Given the description of an element on the screen output the (x, y) to click on. 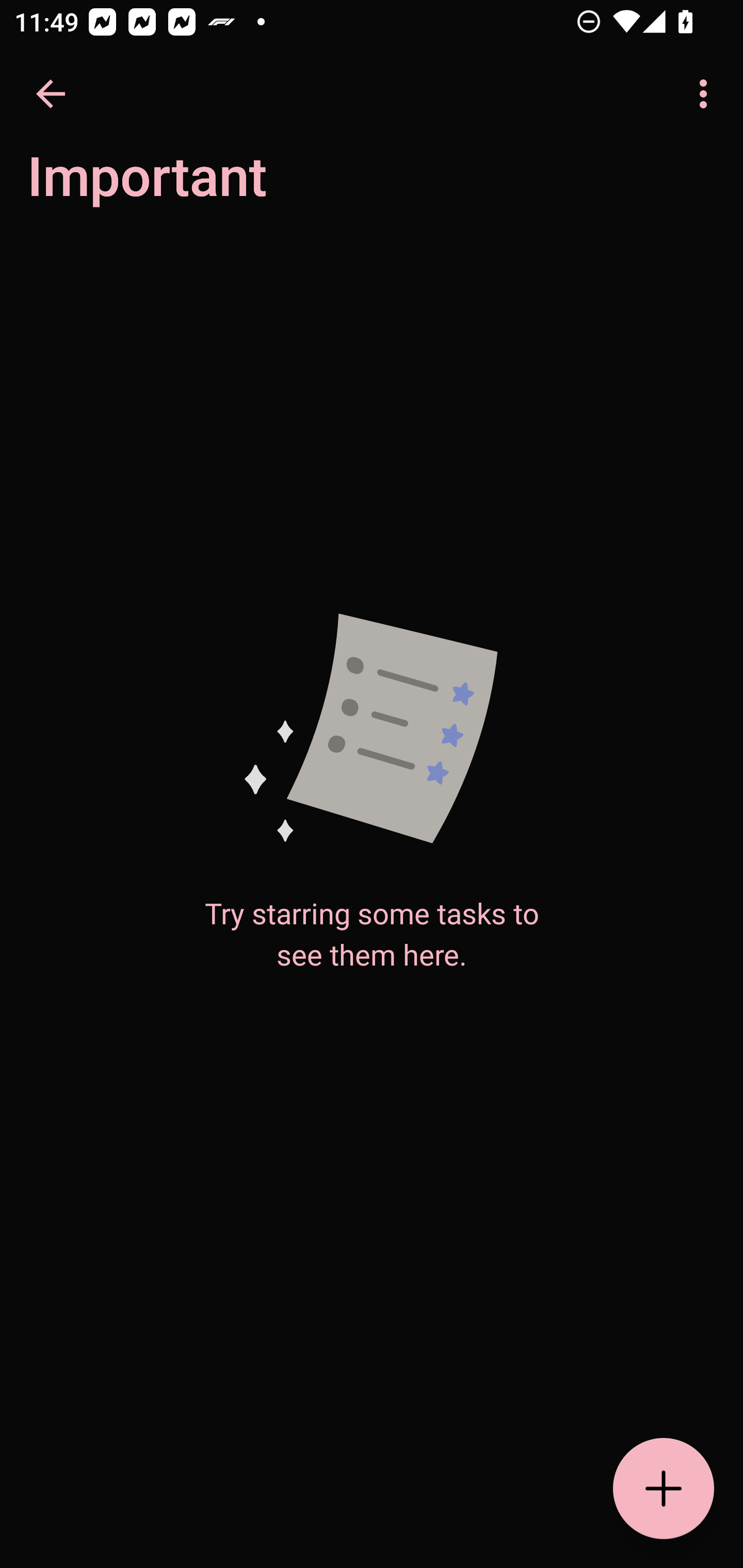
Back (50, 93)
More options (706, 93)
My Day, 0 tasks (182, 187)
Add a task (663, 1488)
